Given the description of an element on the screen output the (x, y) to click on. 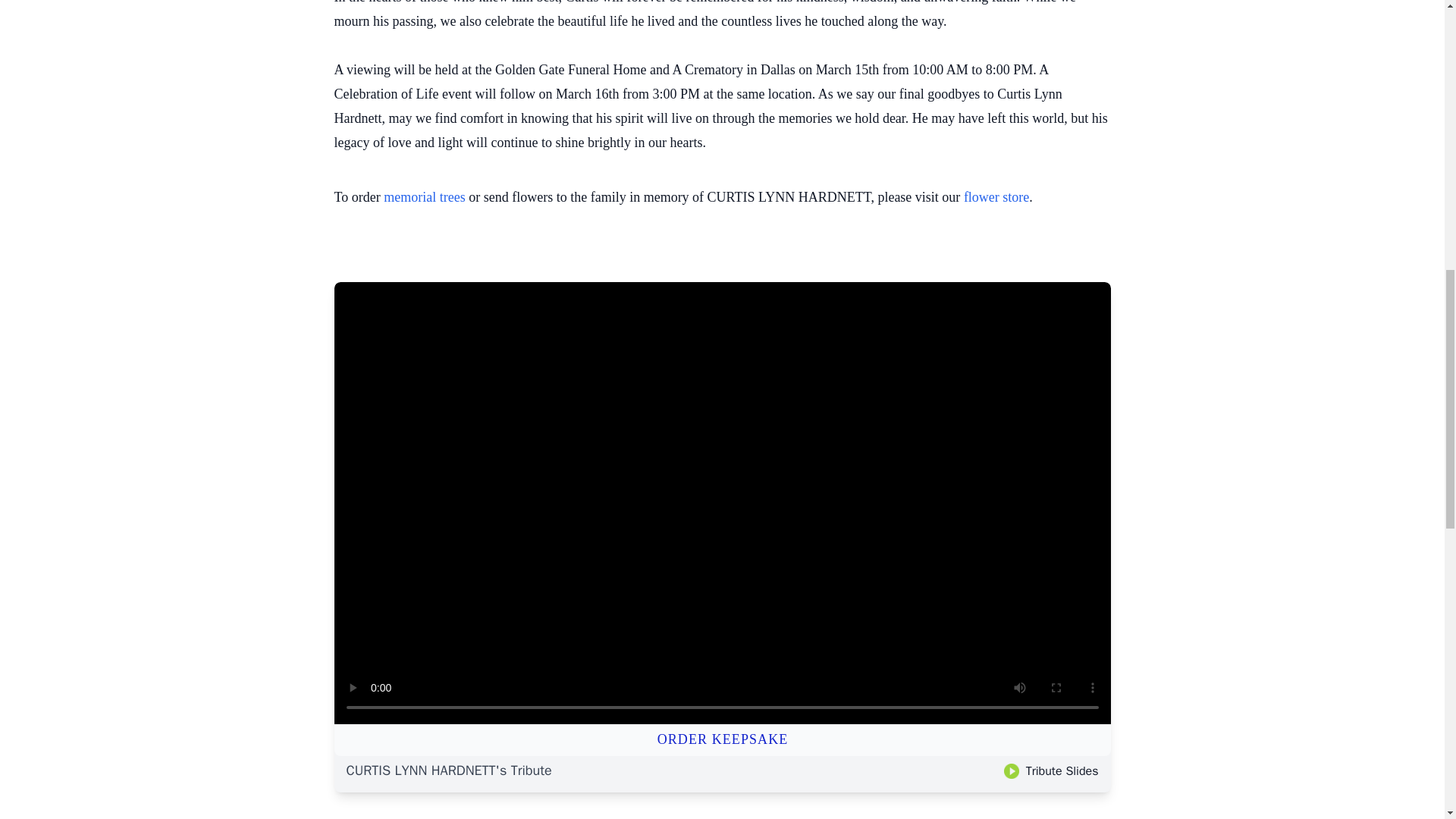
flower store (996, 196)
memorial trees (424, 196)
